Given the description of an element on the screen output the (x, y) to click on. 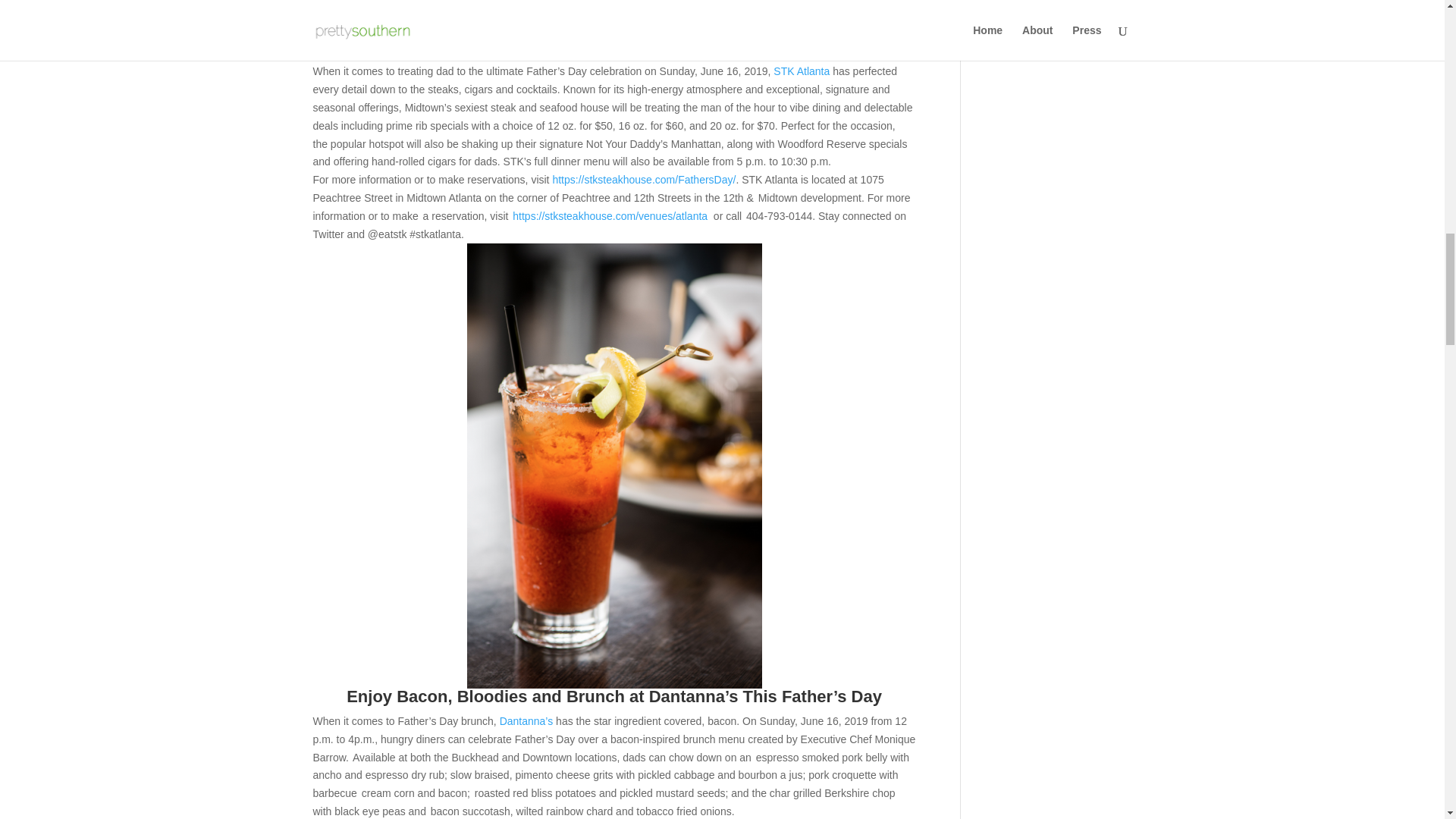
STK Atlanta (801, 70)
